Given the description of an element on the screen output the (x, y) to click on. 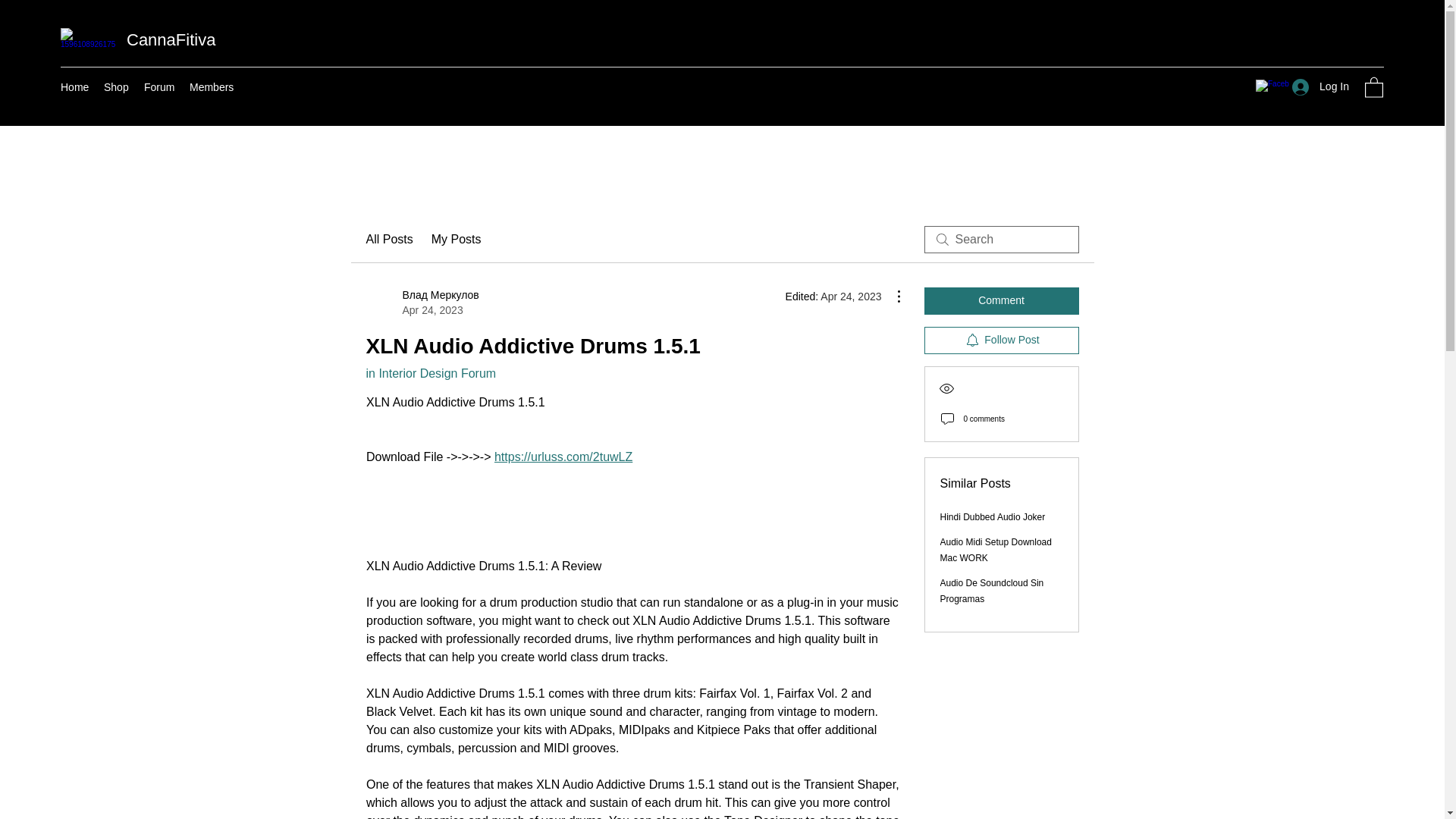
Comment (1000, 300)
Members (211, 87)
Home (74, 87)
Shop (116, 87)
Audio De Soundcloud Sin Programas (991, 591)
Log In (1320, 86)
My Posts (455, 239)
CannaFitiva (170, 39)
Hindi Dubbed Audio Joker (992, 516)
Follow Post (1000, 339)
